Given the description of an element on the screen output the (x, y) to click on. 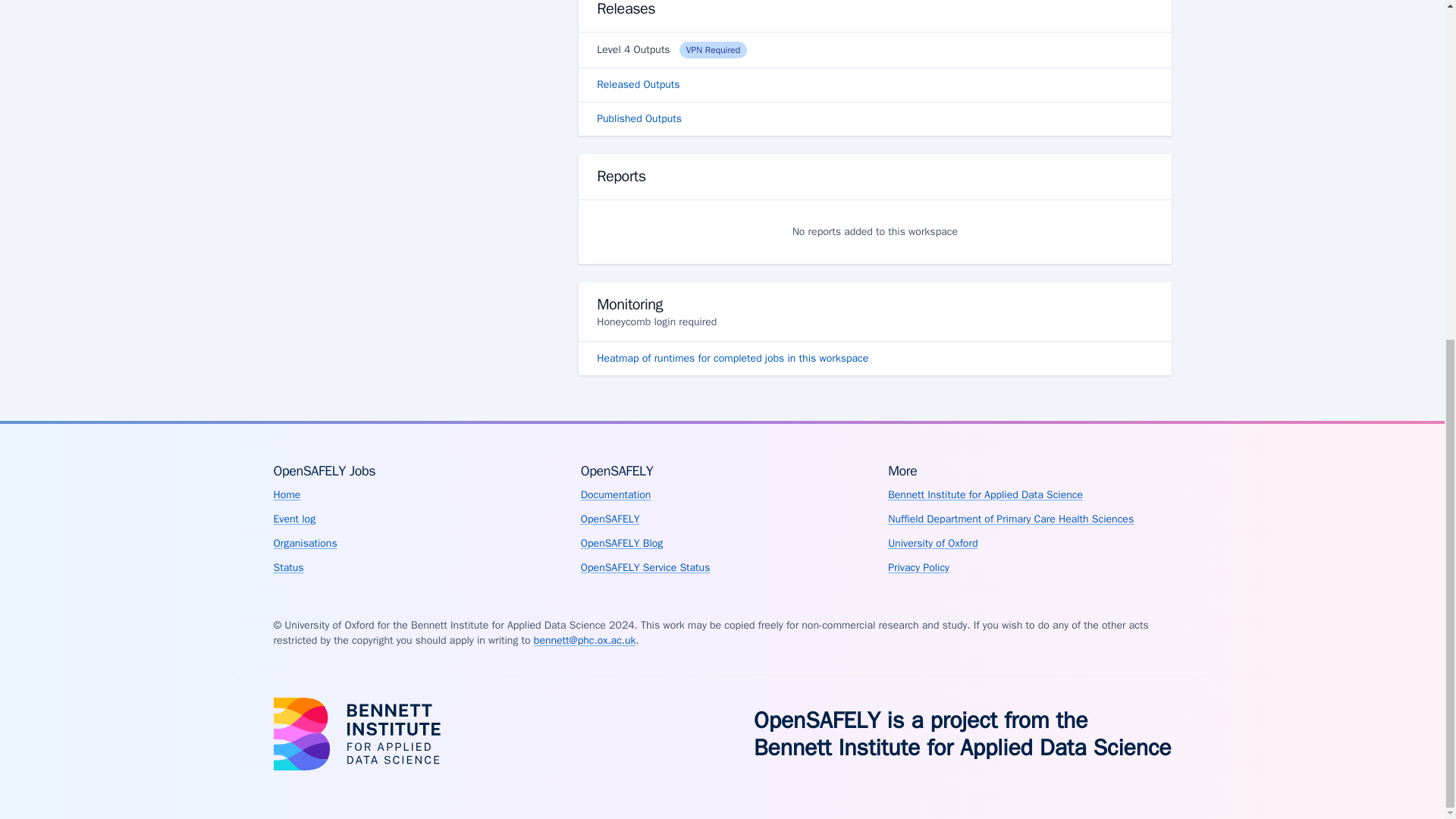
OpenSAFELY Blog (621, 542)
Privacy Policy (918, 566)
OpenSAFELY (610, 518)
Event log (294, 518)
Released Outputs (874, 84)
Documentation (615, 494)
Organisations (304, 542)
OpenSAFELY Service Status (645, 566)
Home (286, 494)
University of Oxford (932, 542)
